Given the description of an element on the screen output the (x, y) to click on. 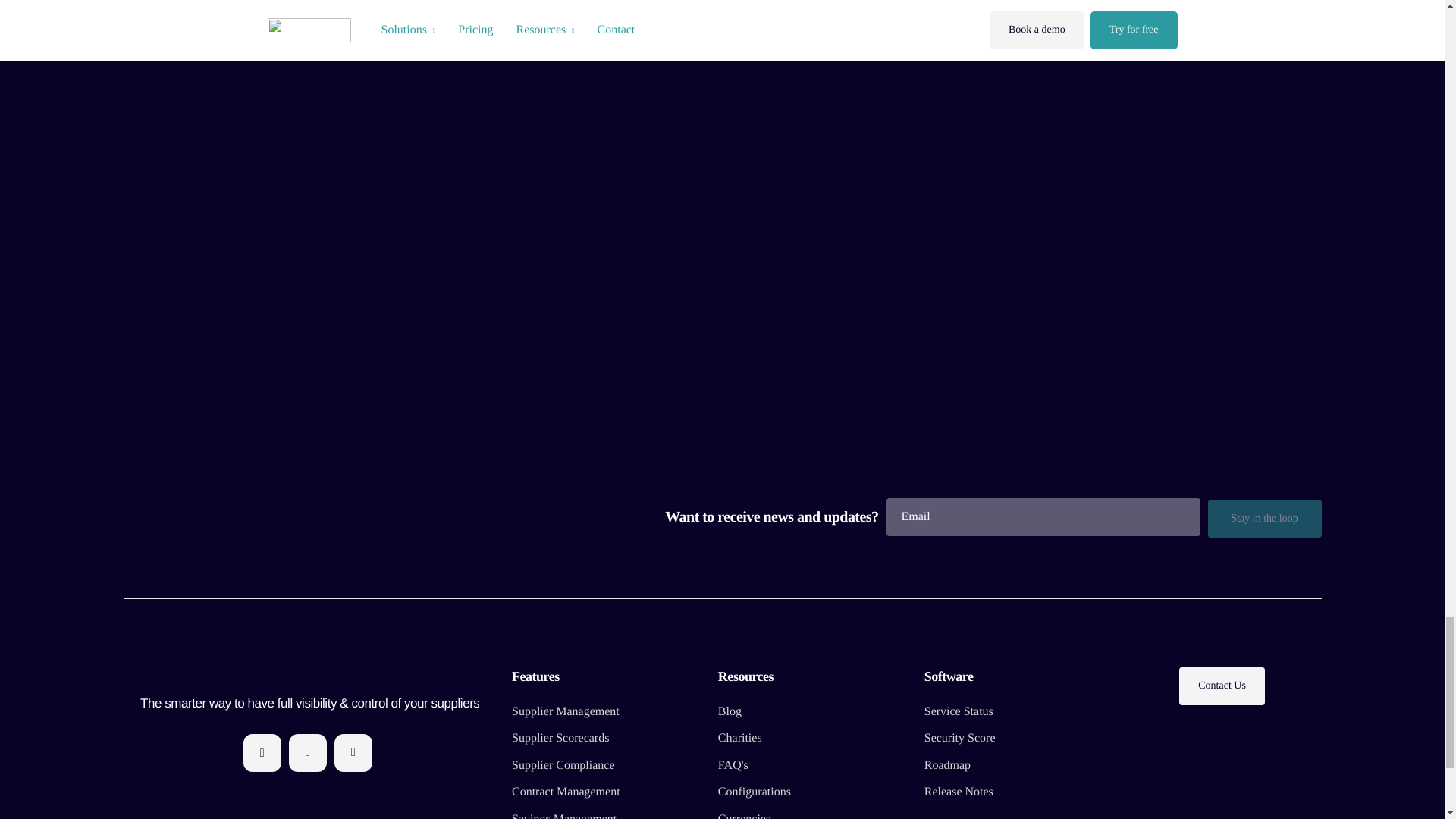
Stay in the loop (1263, 518)
